Given the description of an element on the screen output the (x, y) to click on. 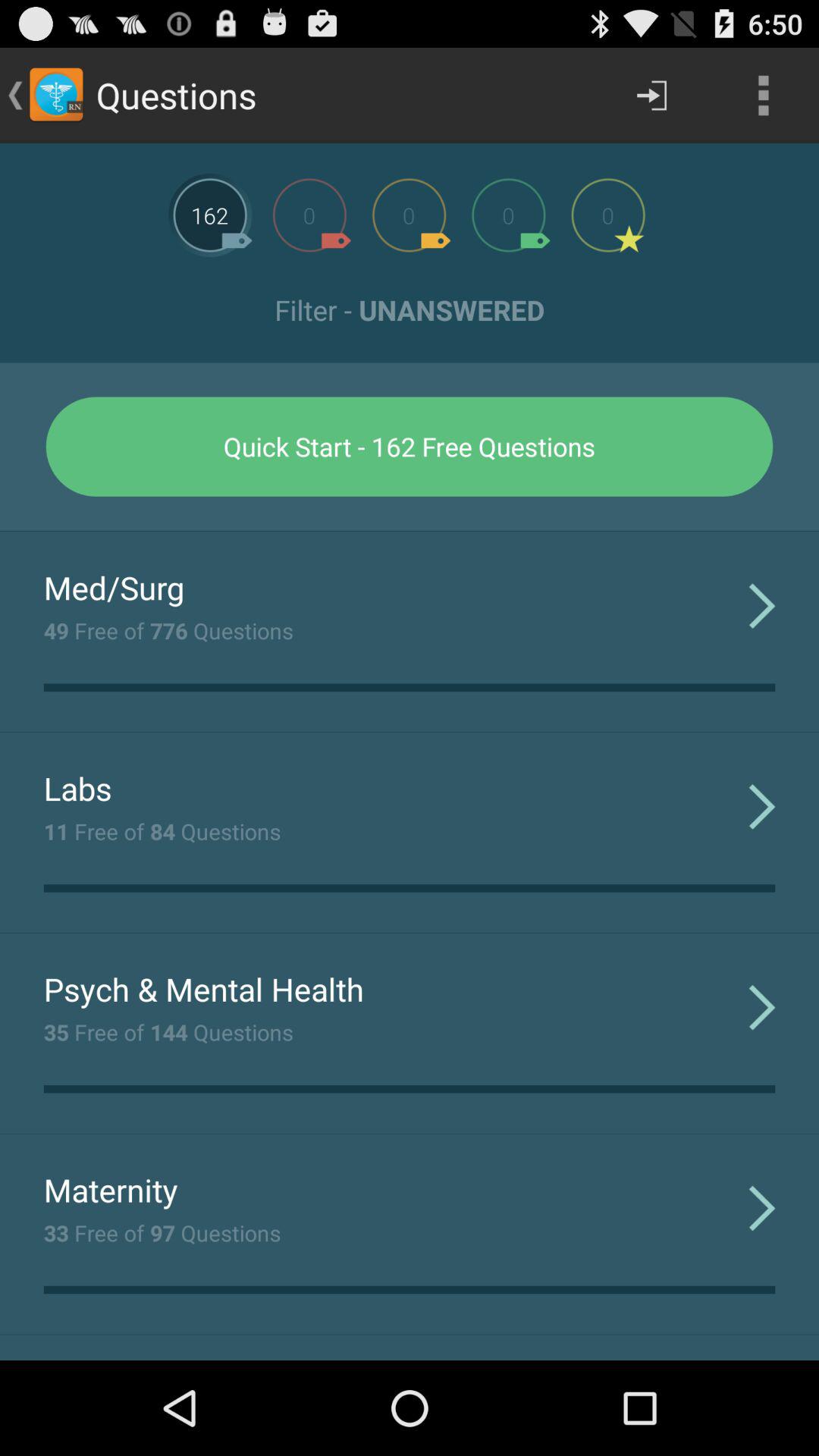
press item to the right of 49 free of item (762, 605)
